Given the description of an element on the screen output the (x, y) to click on. 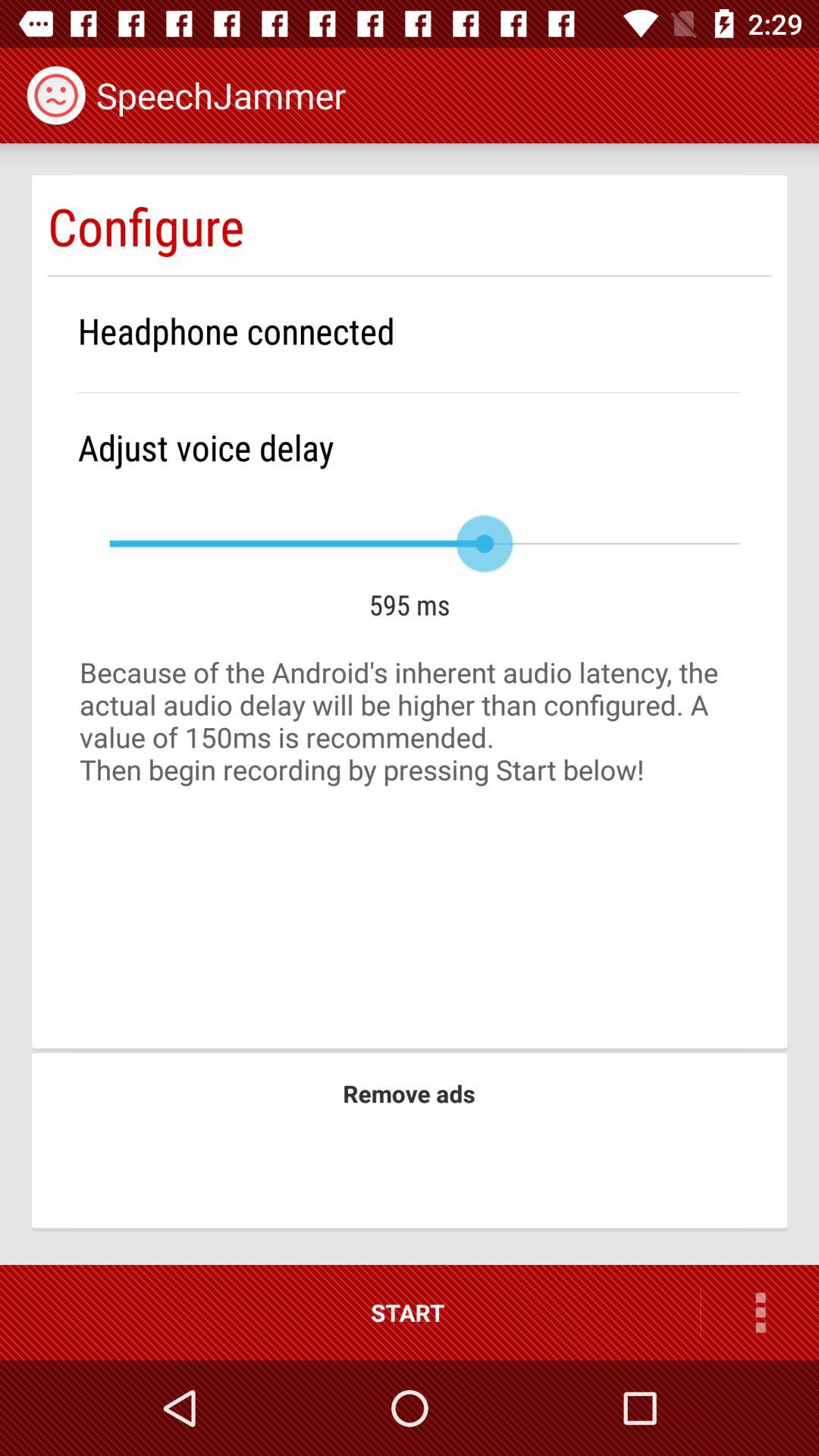
turn off the icon next to the start (760, 1312)
